Given the description of an element on the screen output the (x, y) to click on. 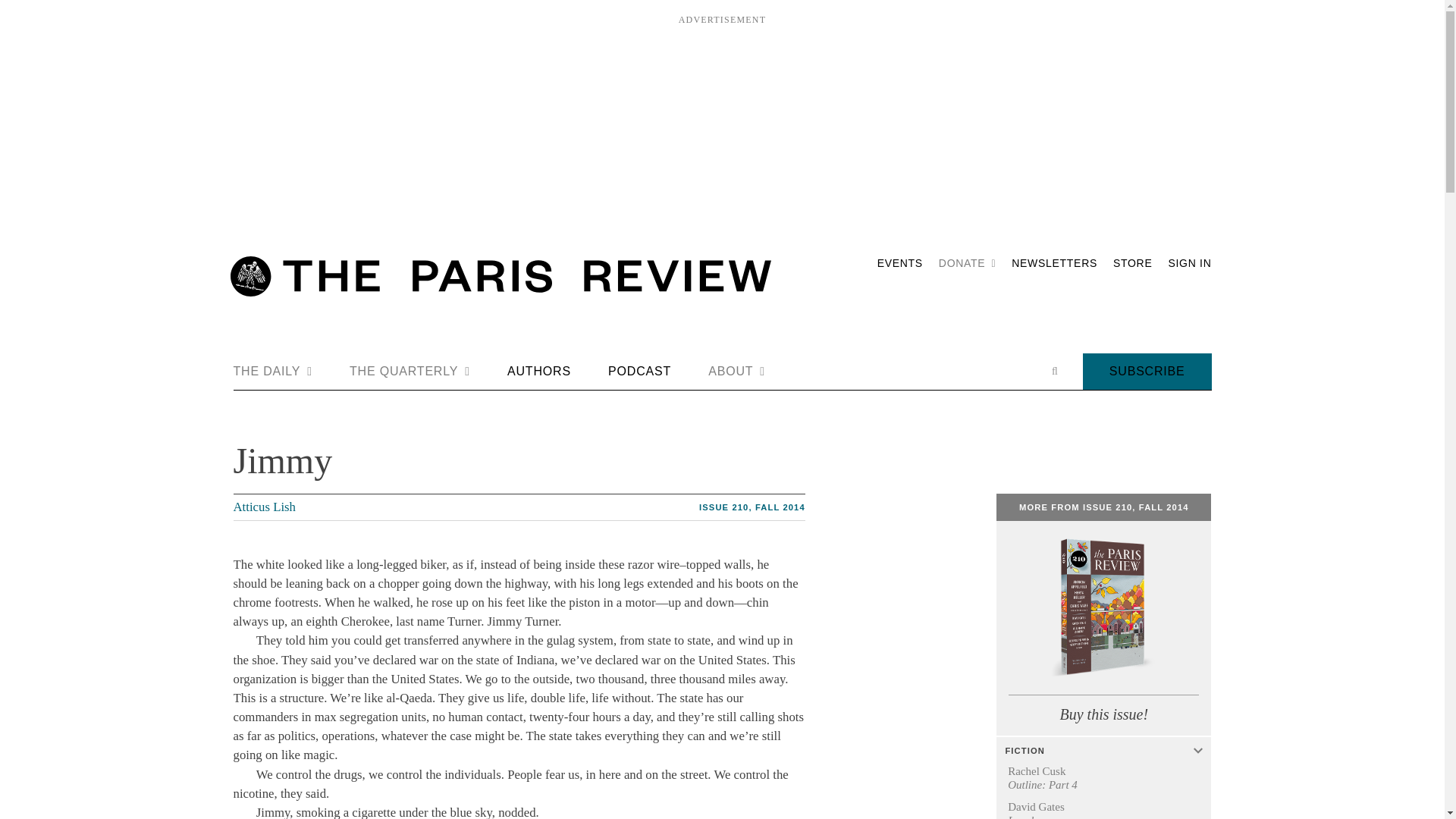
THE DAILY (272, 371)
THE QUARTERLY (409, 371)
Open search (1054, 371)
